Given the description of an element on the screen output the (x, y) to click on. 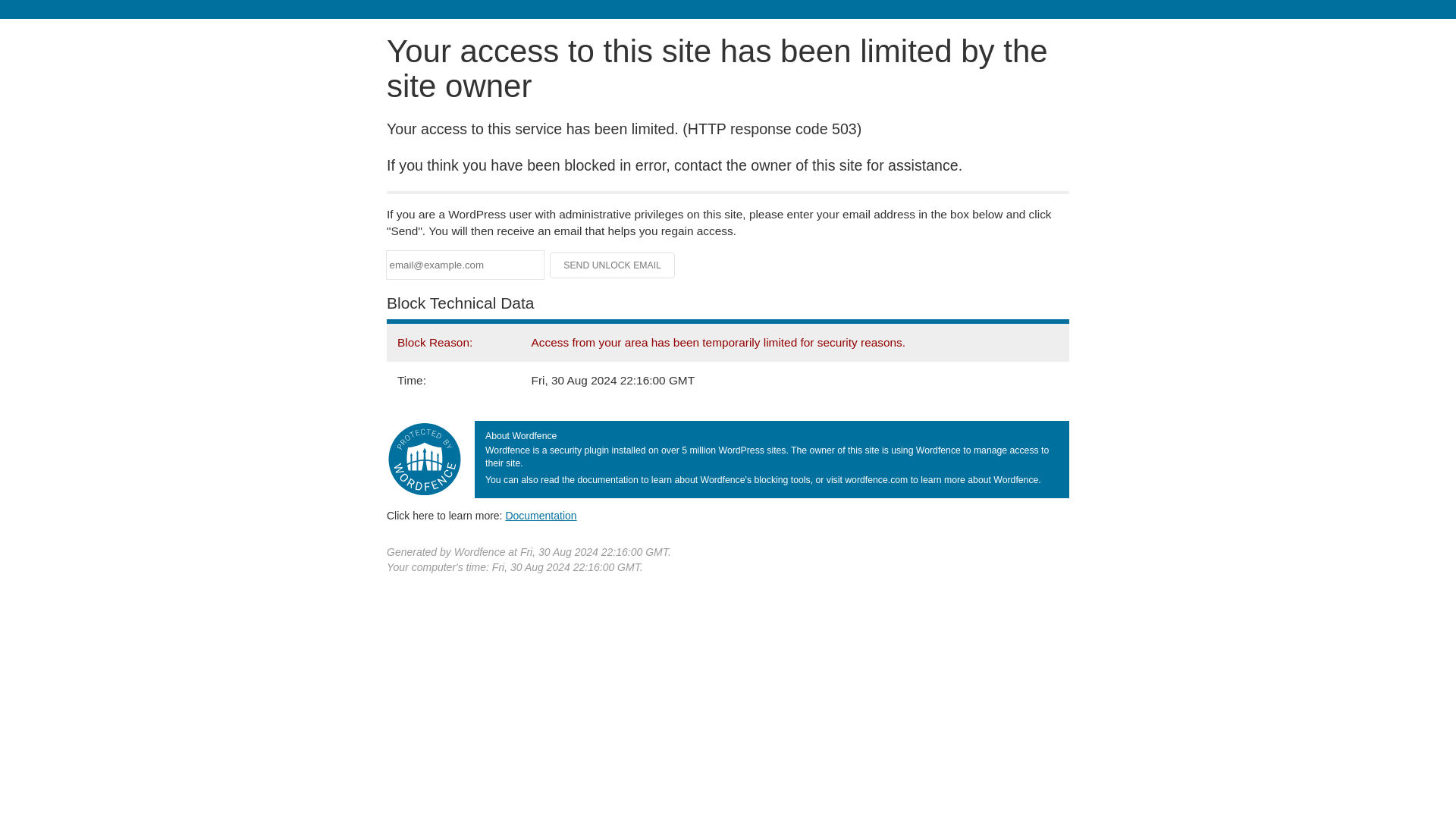
Send Unlock Email (612, 265)
Documentation (540, 515)
Send Unlock Email (612, 265)
